Given the description of an element on the screen output the (x, y) to click on. 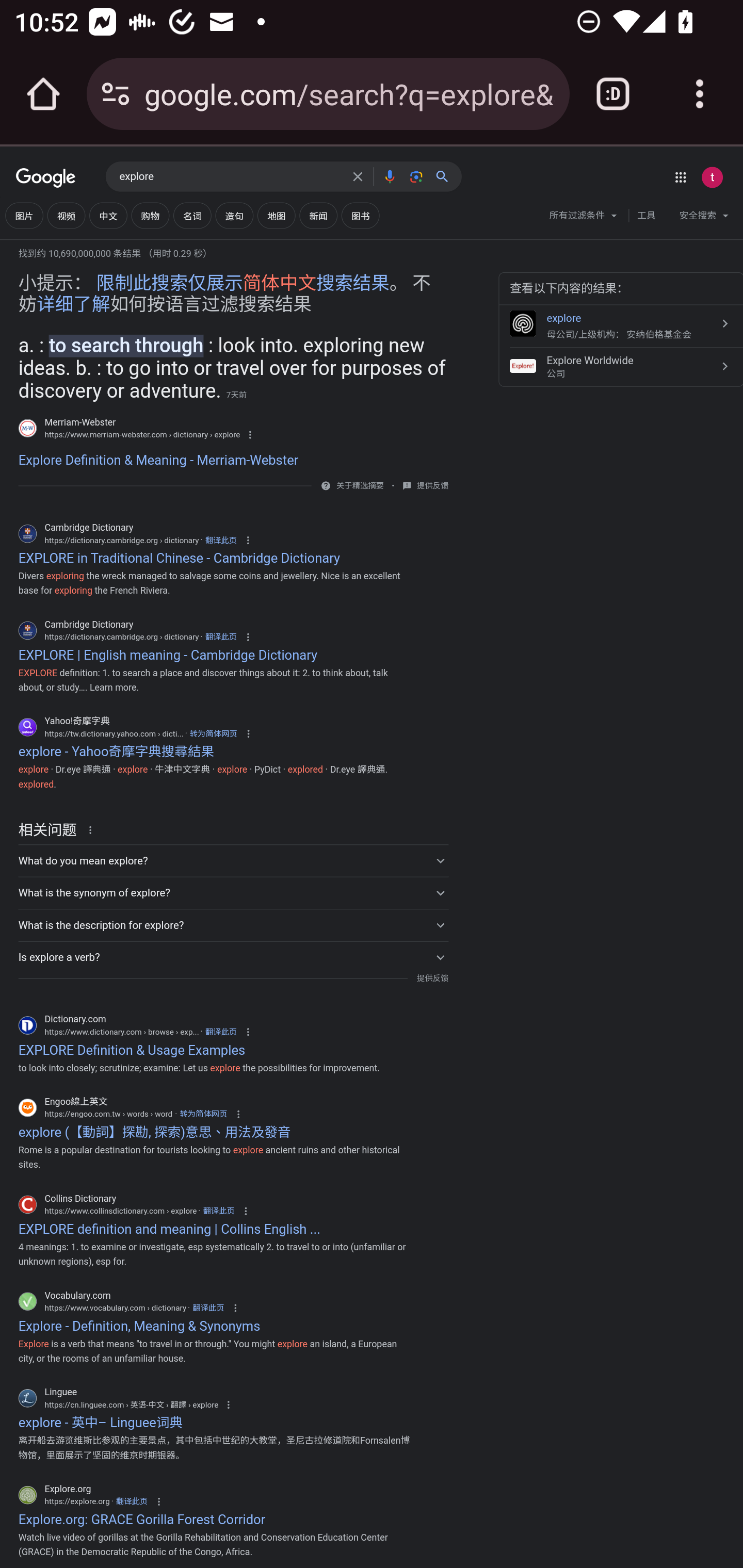
Open the home page (43, 93)
Connection is secure (115, 93)
Switch or close tabs (612, 93)
Customize and control Google Chrome (699, 93)
清除 (357, 176)
按语音搜索 (389, 176)
按图搜索 (415, 176)
搜索 (446, 176)
Google 应用 (680, 176)
Google 账号： test appium (testappium002@gmail.com) (712, 176)
Google (45, 178)
explore (229, 177)
图片 (24, 215)
视频 (65, 215)
添加“中文” 中文 (107, 215)
购物 (149, 215)
添加“名词” 名词 (191, 215)
添加“造句” 造句 (234, 215)
地图 (276, 215)
新闻 (318, 215)
图书 (359, 215)
所有过滤条件 (583, 217)
工具 (646, 215)
安全搜索 (703, 217)
限制此搜索仅展示简体中文搜索结果 限制此搜索仅展示 简体中文 搜索结果 (242, 283)
详细了解 (73, 304)
关于精选摘要 (359, 485)
提供反馈 (432, 484)
翻译此页 (220, 539)
翻译此页 (220, 636)
转为简体网页 (212, 733)
关于这条结果的详细信息 (93, 828)
What do you mean explore? (232, 859)
What is the synonym of explore? (232, 892)
What is the description for explore? (232, 924)
Is explore a verb? (232, 956)
提供反馈 (432, 978)
翻译此页 (220, 1031)
转为简体网页 (203, 1114)
翻译此页 (218, 1210)
翻译此页 (207, 1307)
翻译此页 (131, 1501)
